Given the description of an element on the screen output the (x, y) to click on. 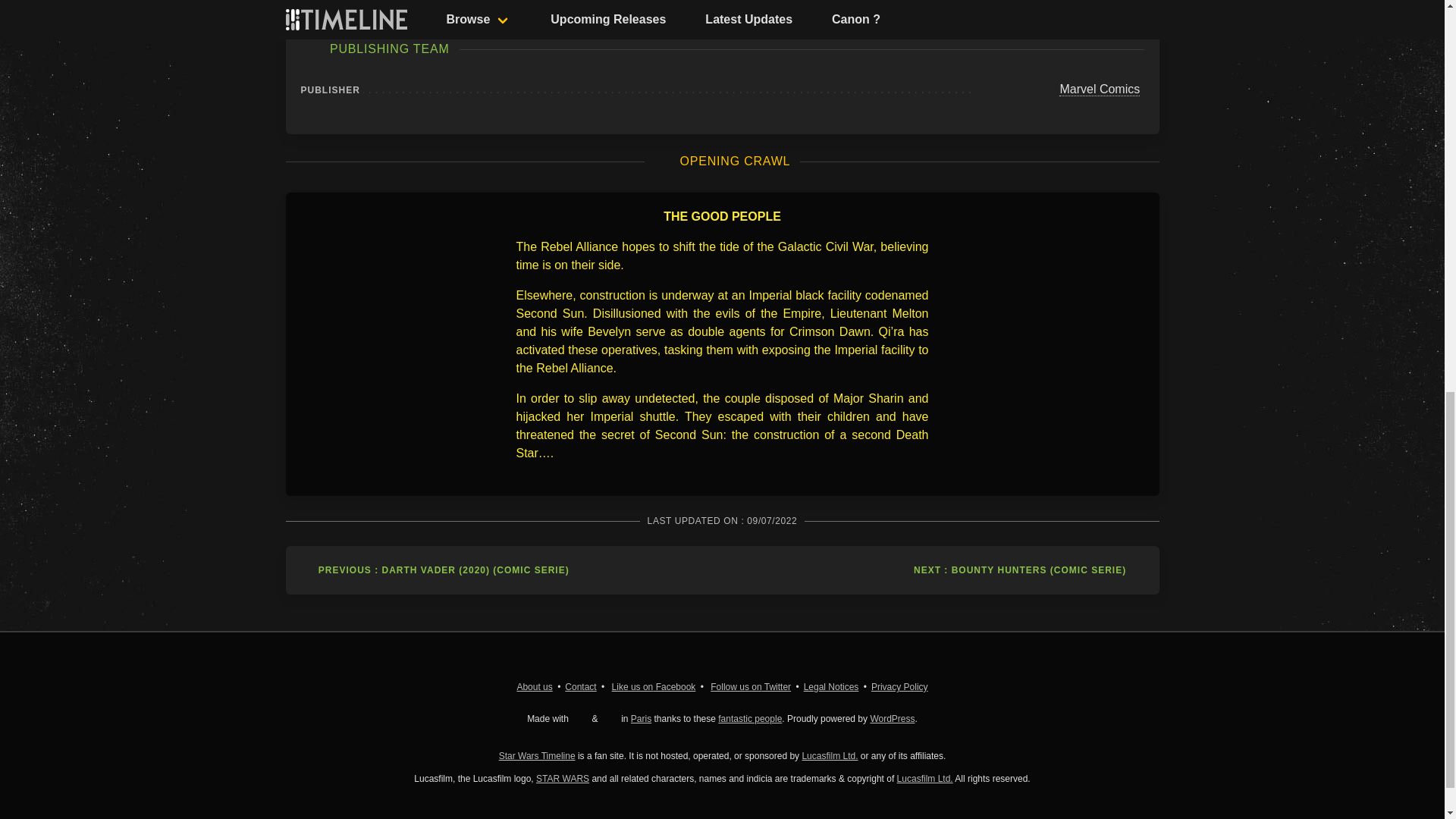
fantastic people (749, 718)
About us (533, 686)
Like us on Facebook (653, 686)
Privacy Policy (899, 686)
WordPress (891, 718)
Follow us on Twitter (750, 686)
Paris (640, 718)
Marvel Comics (1099, 89)
Legal Notices (831, 686)
Contact (579, 686)
